Given the description of an element on the screen output the (x, y) to click on. 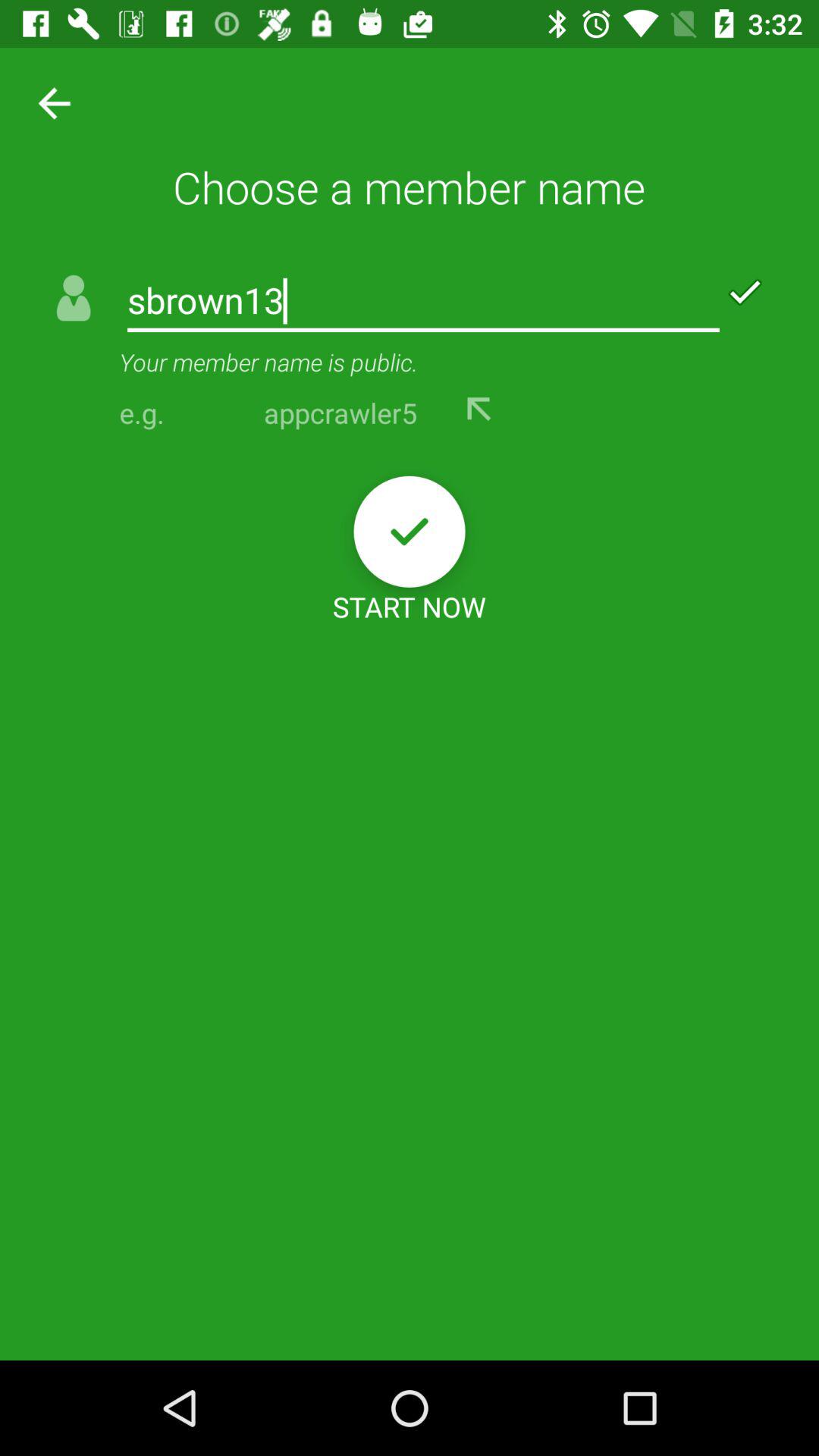
turn on the icon to the left of choose a member icon (48, 102)
